Given the description of an element on the screen output the (x, y) to click on. 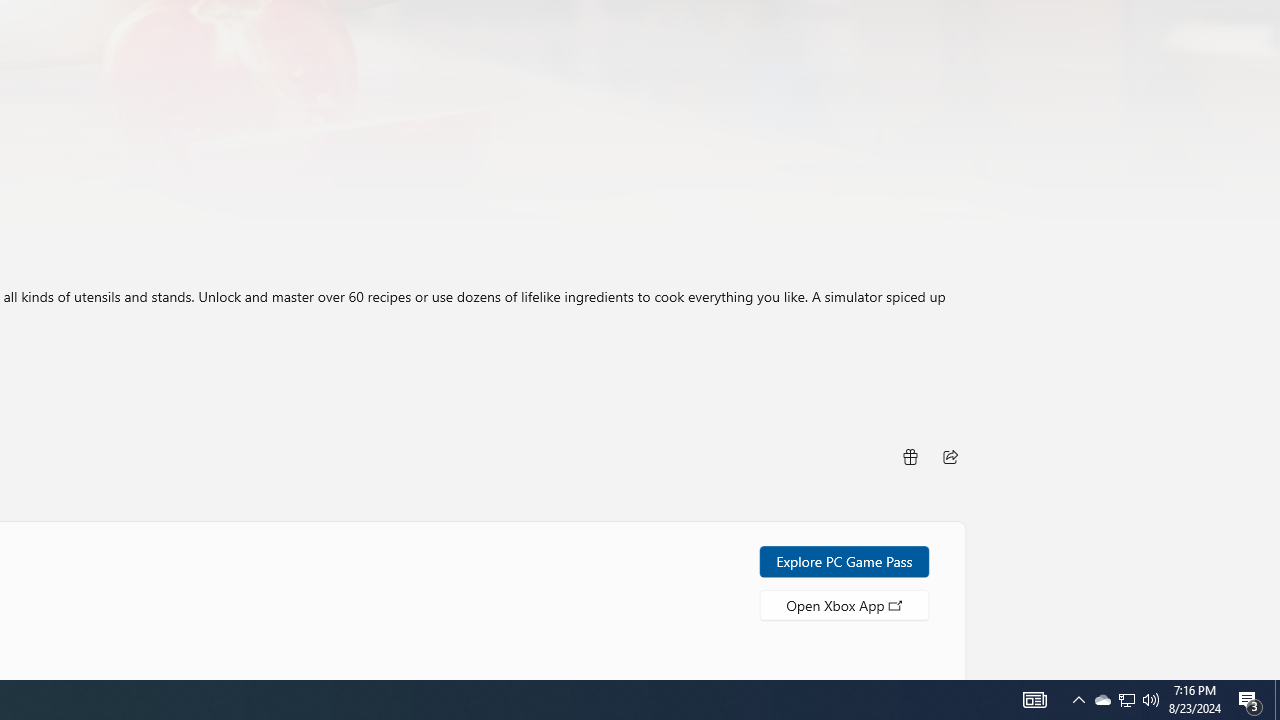
Explore PC Game Pass (844, 560)
Share (950, 456)
Open Xbox App (844, 603)
Buy as gift (909, 456)
